Given the description of an element on the screen output the (x, y) to click on. 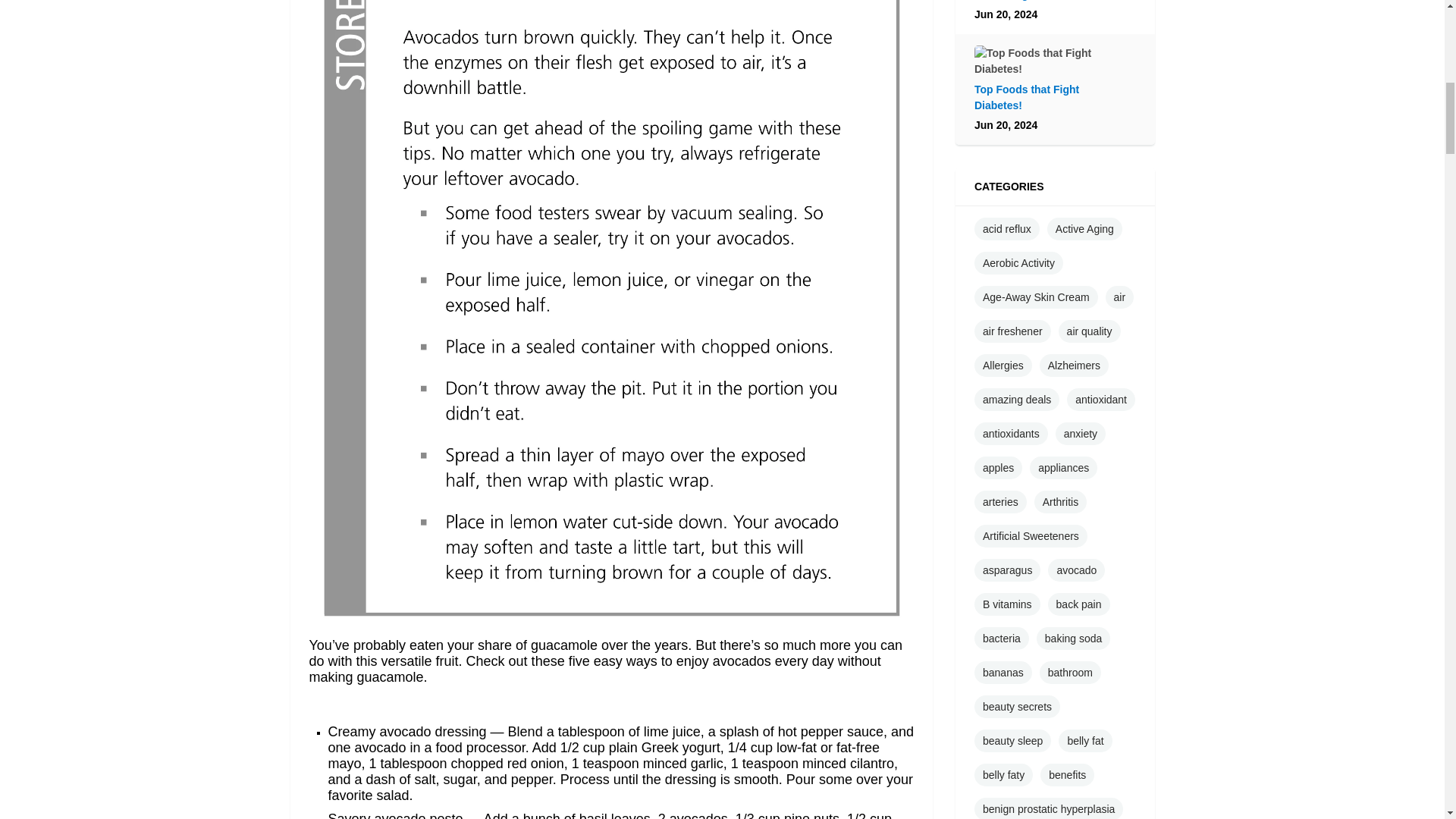
Show articles tagged apples (998, 467)
Show articles tagged Alzheimers (1073, 364)
Show articles tagged Age-Away Skin Cream (1035, 296)
Show articles tagged air quality (1089, 331)
Show articles tagged acid reflux (1006, 228)
Show articles tagged antioxidant (1101, 399)
Show articles tagged anxiety (1080, 433)
Show articles tagged Active Aging (1084, 228)
Show articles tagged Arthritis (1059, 501)
Show articles tagged arteries (1000, 501)
